Given the description of an element on the screen output the (x, y) to click on. 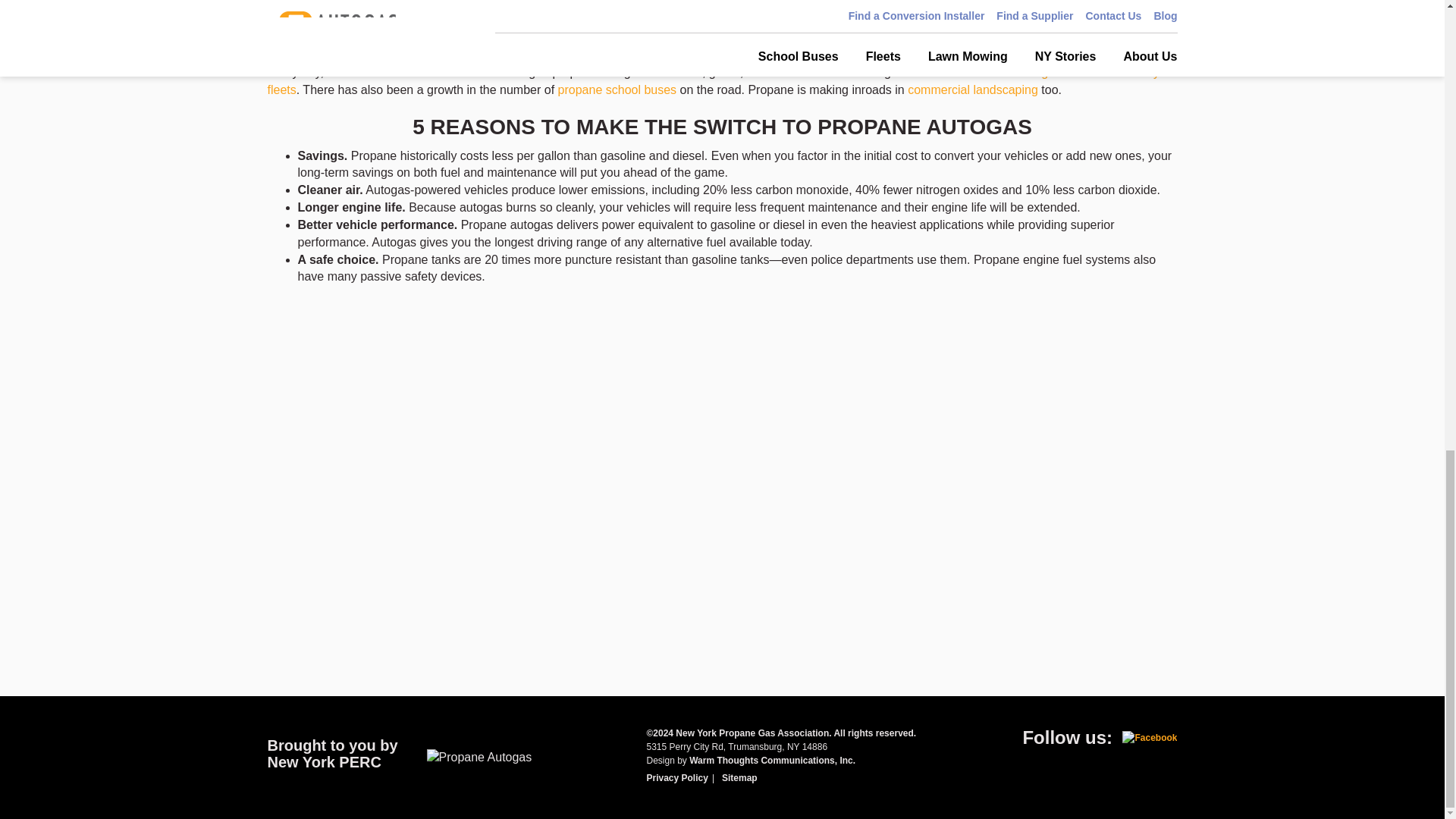
commercial landscaping (972, 89)
Warm Thoughts Communications, Inc. (772, 760)
light- and medium-duty fleets (712, 81)
propane school buses (617, 89)
Privacy Policy (676, 777)
Sitemap (739, 777)
